Given the description of an element on the screen output the (x, y) to click on. 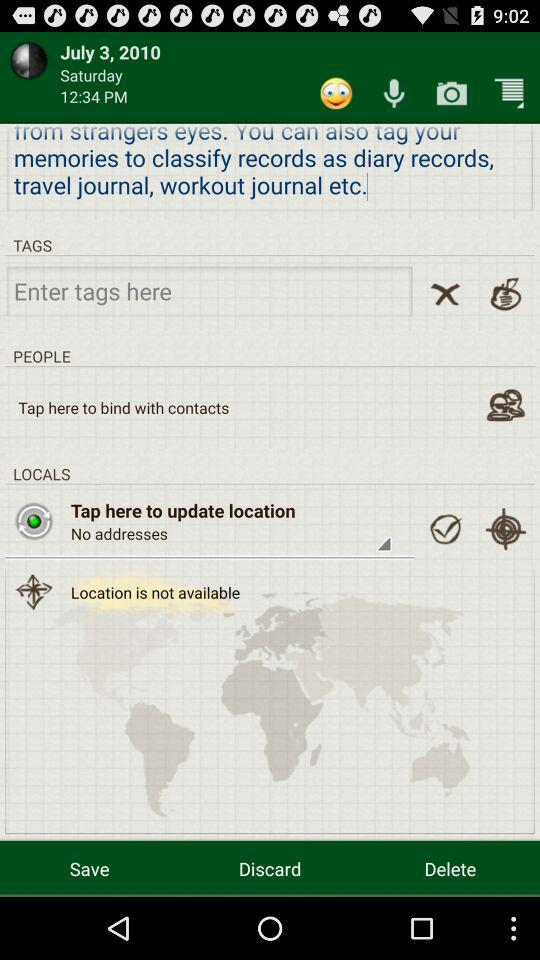
turn off the icon to the right of tap here to (445, 529)
